Given the description of an element on the screen output the (x, y) to click on. 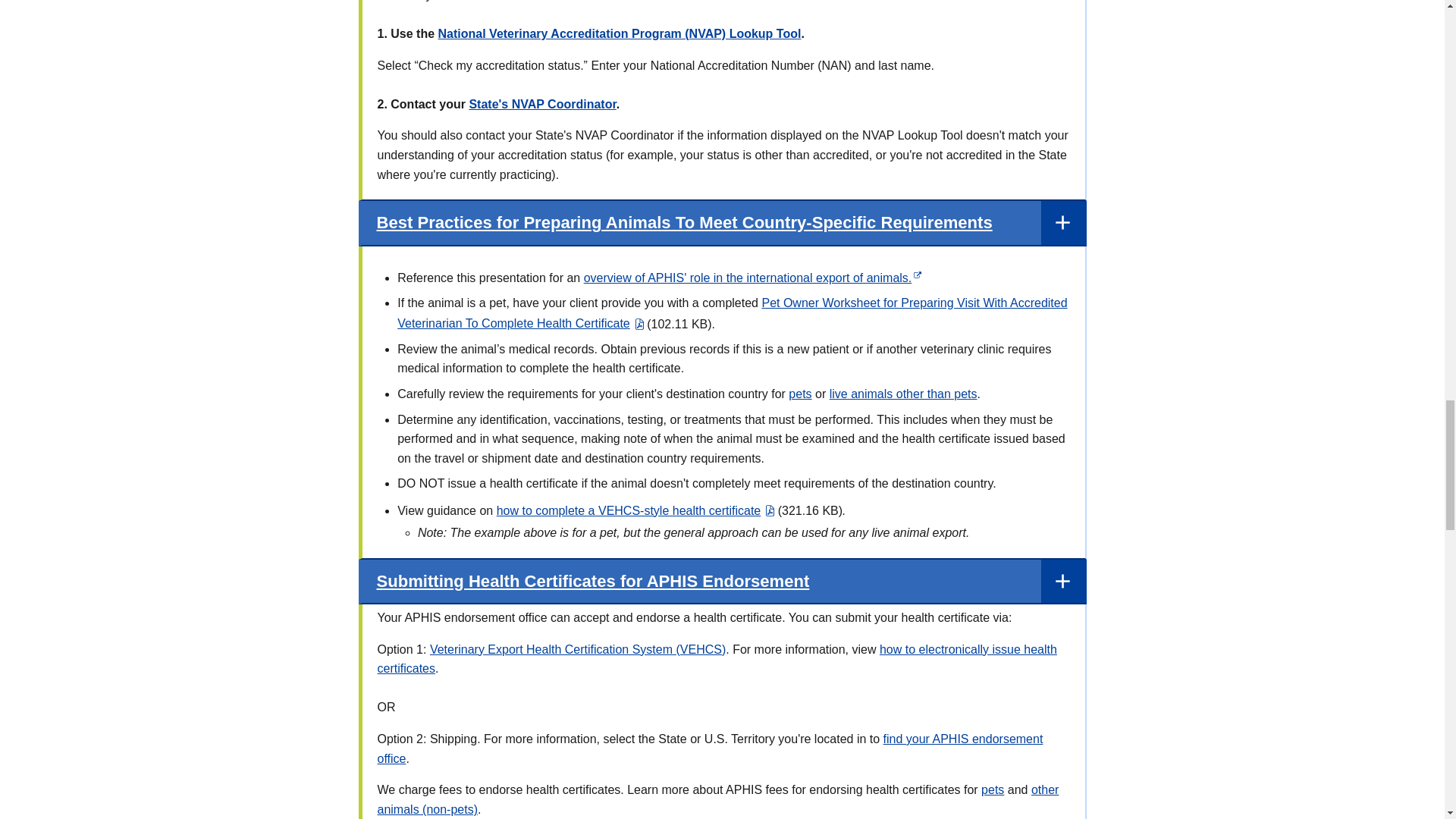
checklist-for-obtaining-international-health-certificate (732, 313)
vehcs-filling-out-intl-hc-pets.pdf (635, 509)
NVAP Coordinators (541, 103)
